Given the description of an element on the screen output the (x, y) to click on. 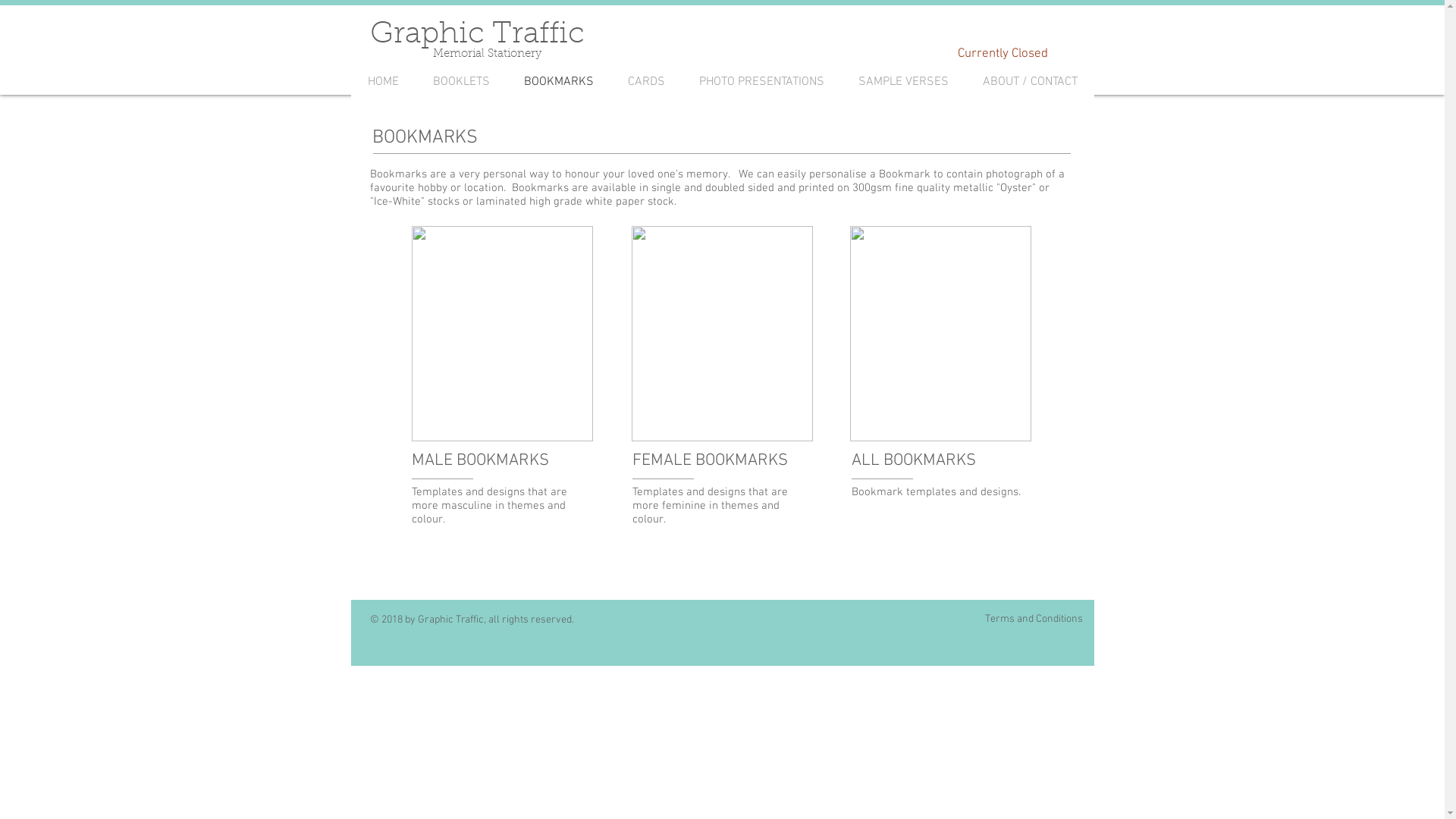
CARDS Element type: text (646, 81)
Terms and Conditions Element type: text (1033, 619)
ABOUT / CONTACT Element type: text (1030, 81)
MALE BOOKMARKS Element type: text (480, 460)
BOOKMARKS Element type: text (558, 81)
SAMPLE VERSES Element type: text (903, 81)
FEMALE BOOKMARKS Element type: text (710, 460)
BOOKLETS Element type: text (460, 81)
Graphic Traffic Element type: text (477, 34)
PHOTO PRESENTATIONS Element type: text (761, 81)
HOME Element type: text (382, 81)
ALL BOOKMARKS Element type: text (912, 460)
